Given the description of an element on the screen output the (x, y) to click on. 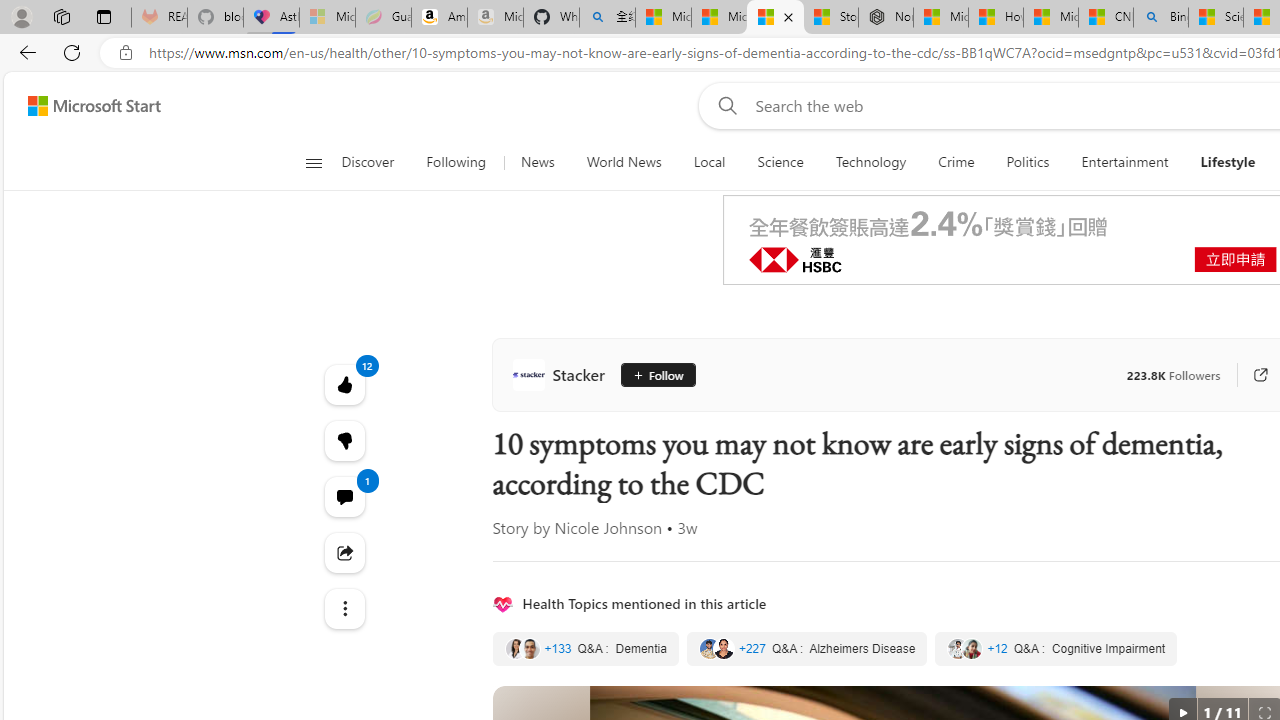
See more (343, 608)
Local (709, 162)
Science - MSN (1215, 17)
Follow (658, 374)
News (537, 162)
Science (779, 162)
Dislike (343, 440)
Stocks - MSN (830, 17)
Science (780, 162)
